Given the description of an element on the screen output the (x, y) to click on. 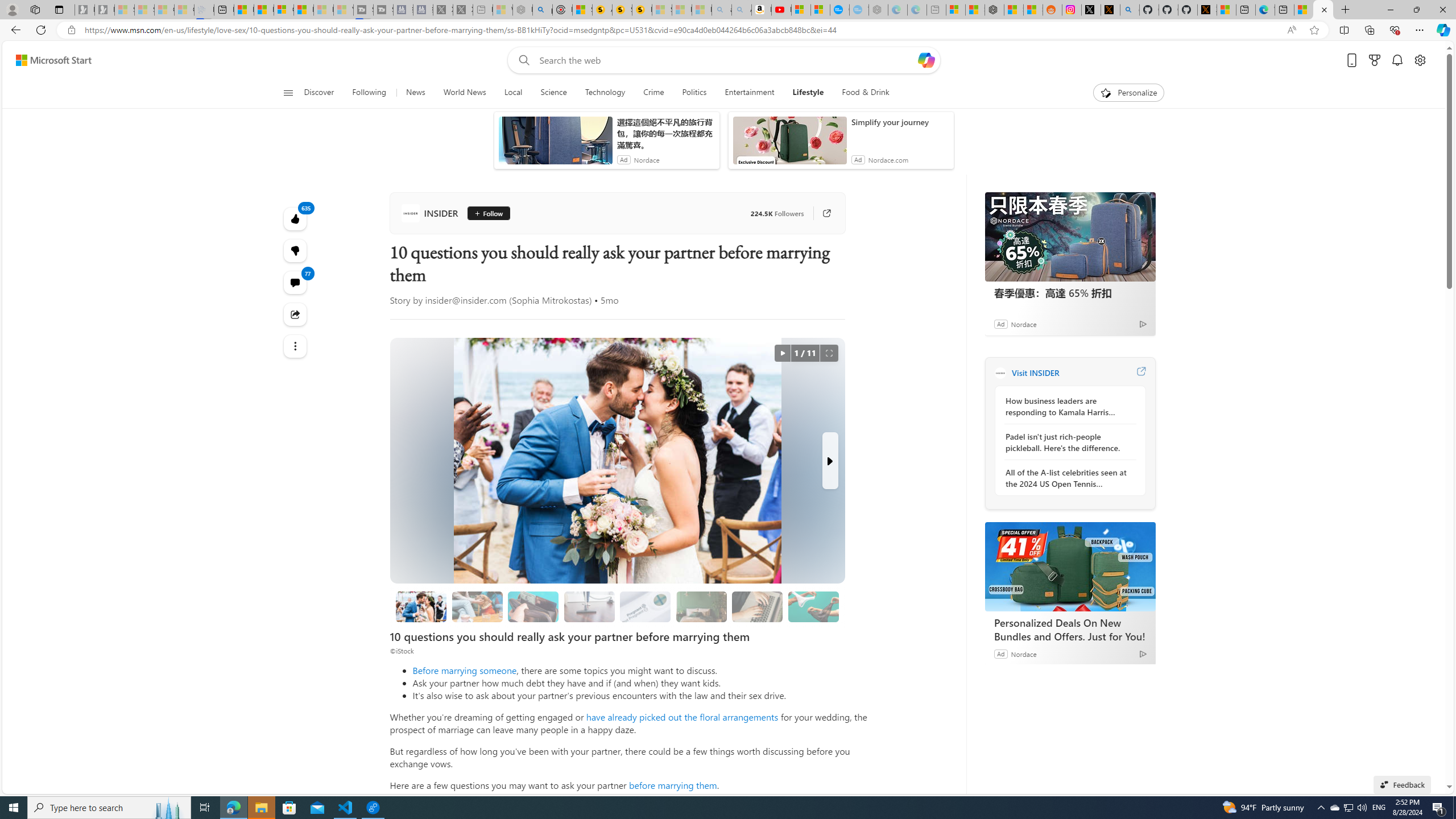
Science (553, 92)
Log in to X / X (1090, 9)
Newsletter Sign Up - Sleeping (104, 9)
Shades of green get dated too quickly. (701, 606)
before marrying them (672, 784)
Class: progress (813, 604)
Microsoft account | Microsoft Account Privacy Settings (954, 9)
